Given the description of an element on the screen output the (x, y) to click on. 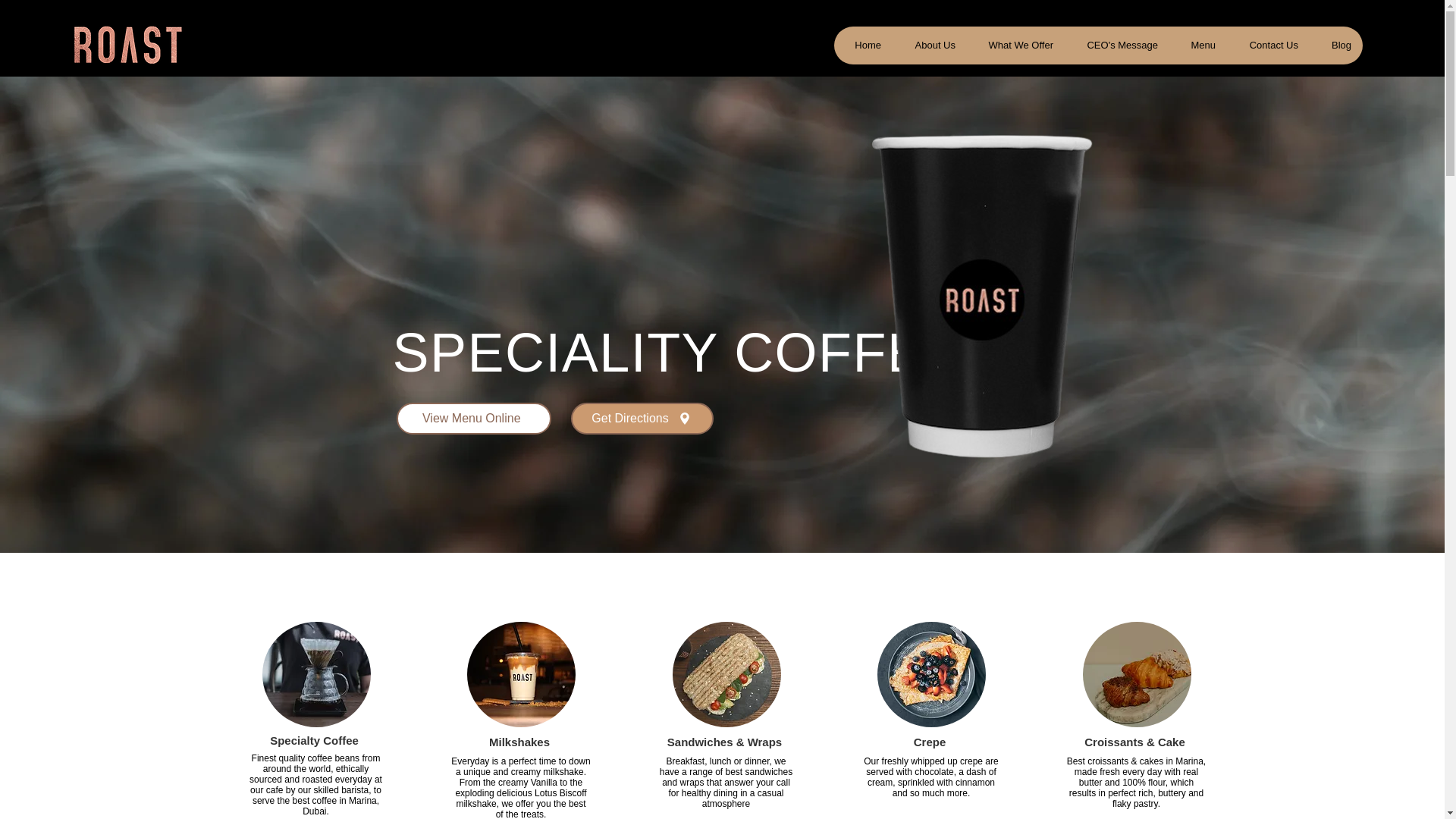
Get Directions (641, 418)
Contact Us (1267, 45)
Home (863, 45)
Logo.png (125, 46)
Menu (1198, 45)
About Us (929, 45)
Blog (1335, 45)
What We Offer (1015, 45)
CEO's Message (1116, 45)
View Menu Online (473, 418)
